Given the description of an element on the screen output the (x, y) to click on. 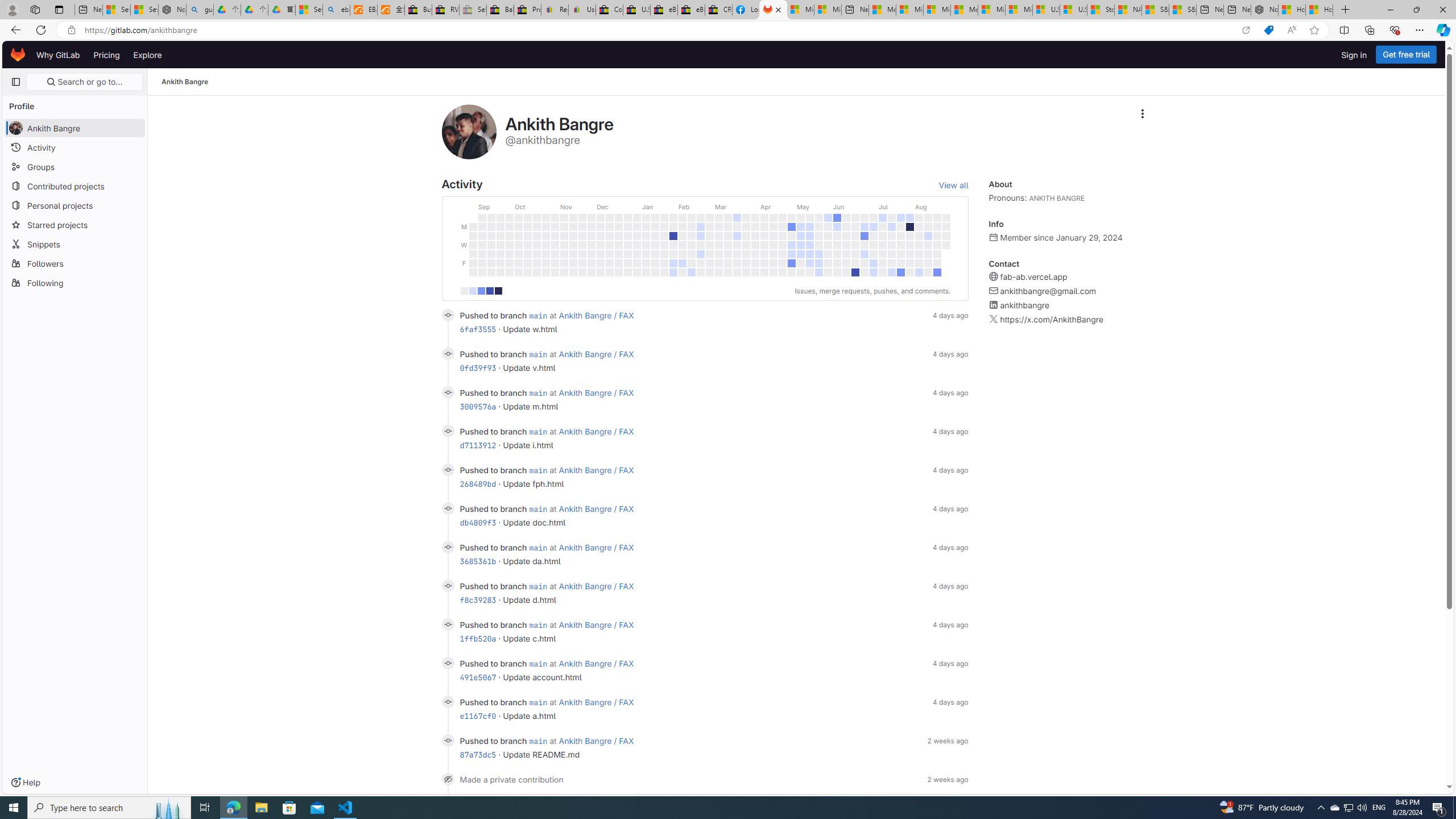
1-9 contributions (472, 290)
Personal projects (74, 205)
guge yunpan - Search (200, 9)
eBay Inc. Reports Third Quarter 2023 Results (691, 9)
